Given the description of an element on the screen output the (x, y) to click on. 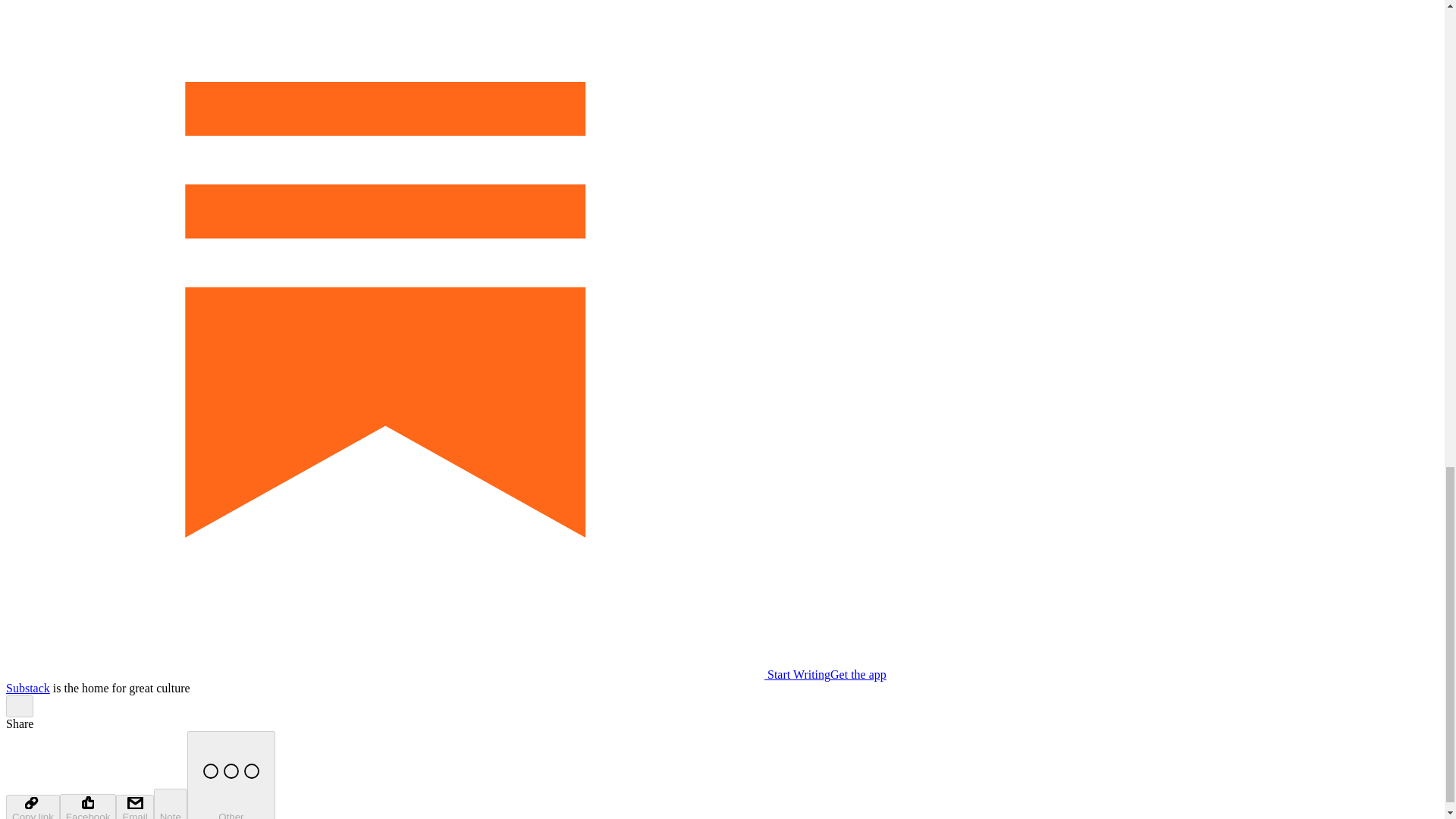
Start Writing (417, 674)
Substack (27, 687)
Get the app (857, 674)
